Given the description of an element on the screen output the (x, y) to click on. 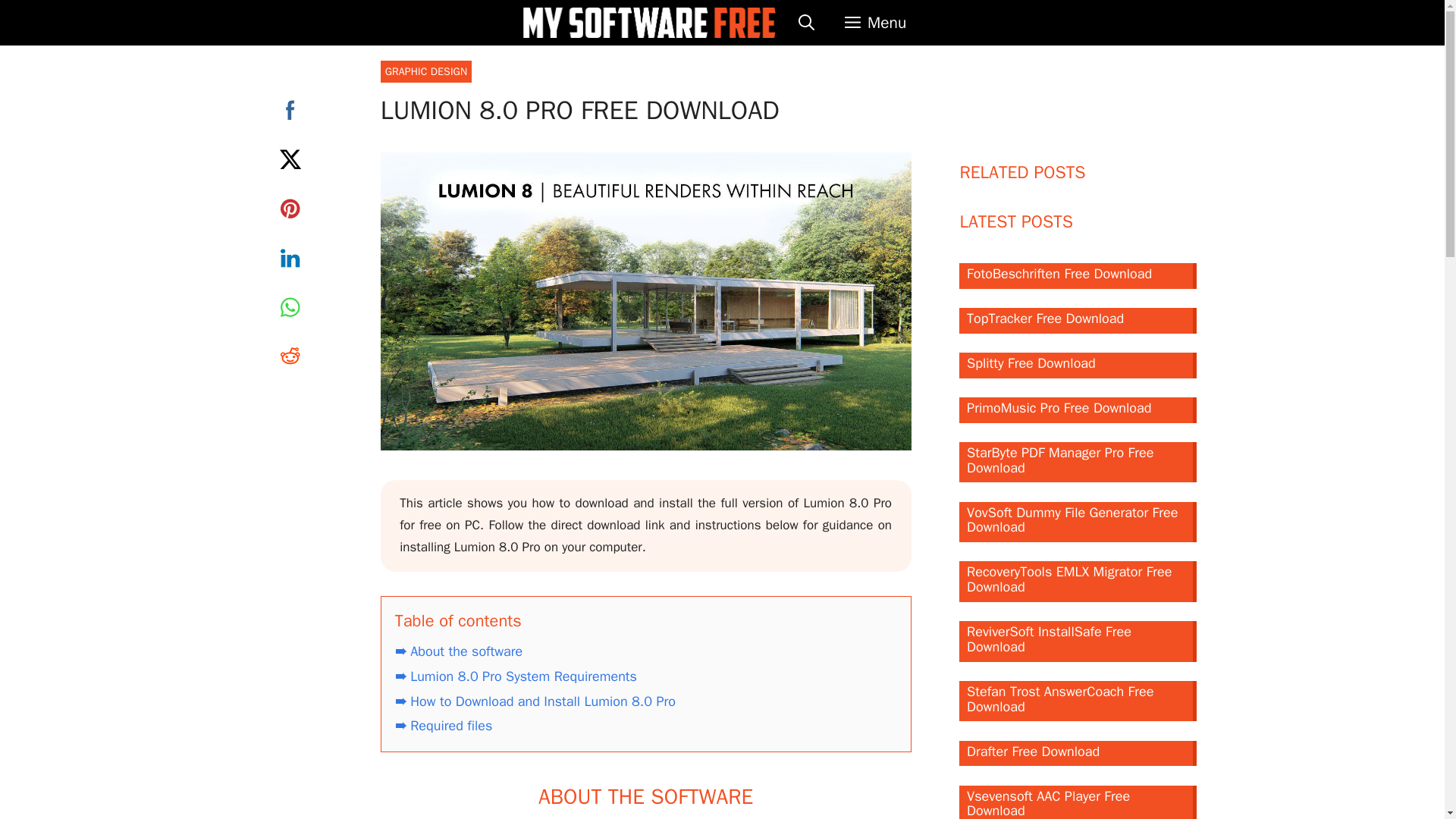
TopTracker Free Download (1077, 320)
How to Download and Install Lumion 8.0 Pro (534, 701)
Lumion 8.0 Pro System Requirements (515, 676)
Twitter (289, 159)
Splitty Free Download (1077, 365)
RecoveryTools EMLX Migrator Free Download (1077, 581)
LinkedIn (289, 257)
Vsevensoft AAC Player Free Download (1077, 802)
My Software Free (649, 22)
About the software (458, 651)
Menu (875, 22)
Required files (443, 725)
PrimoMusic Pro Free Download (1077, 410)
ReviverSoft InstallSafe Free Download (1077, 640)
Stefan Trost AnswerCoach Free Download (1077, 700)
